Given the description of an element on the screen output the (x, y) to click on. 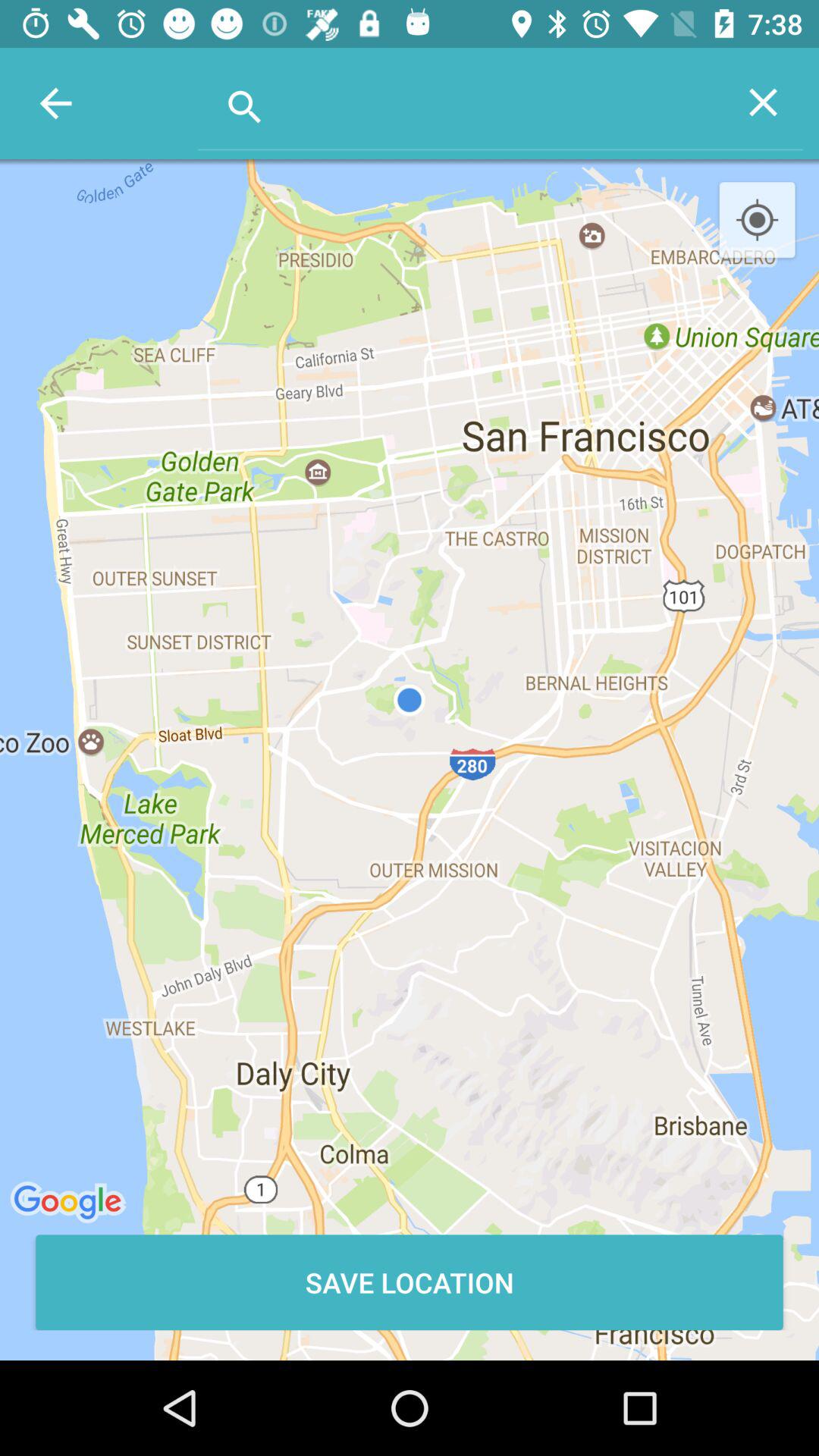
press save location item (409, 1282)
